Given the description of an element on the screen output the (x, y) to click on. 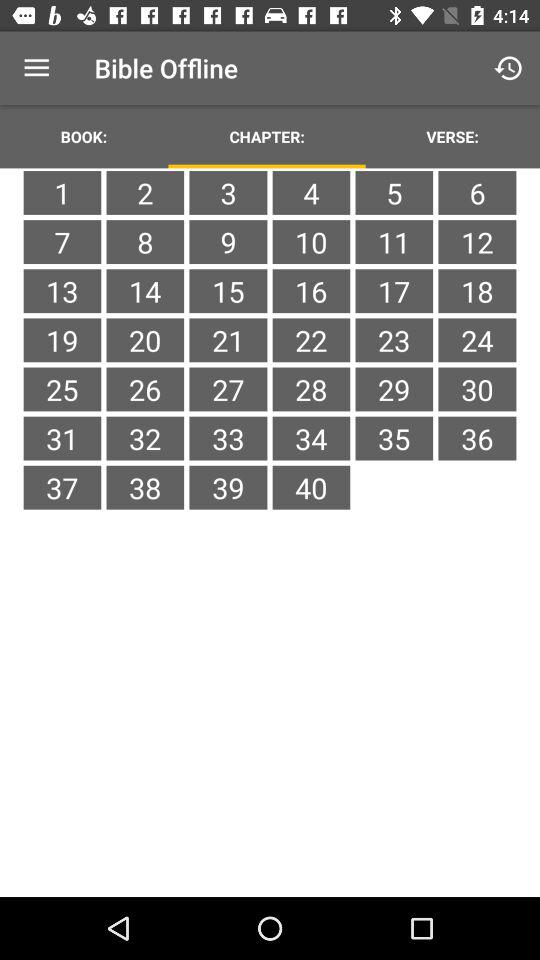
launch the icon to the left of the 4 icon (228, 192)
